Given the description of an element on the screen output the (x, y) to click on. 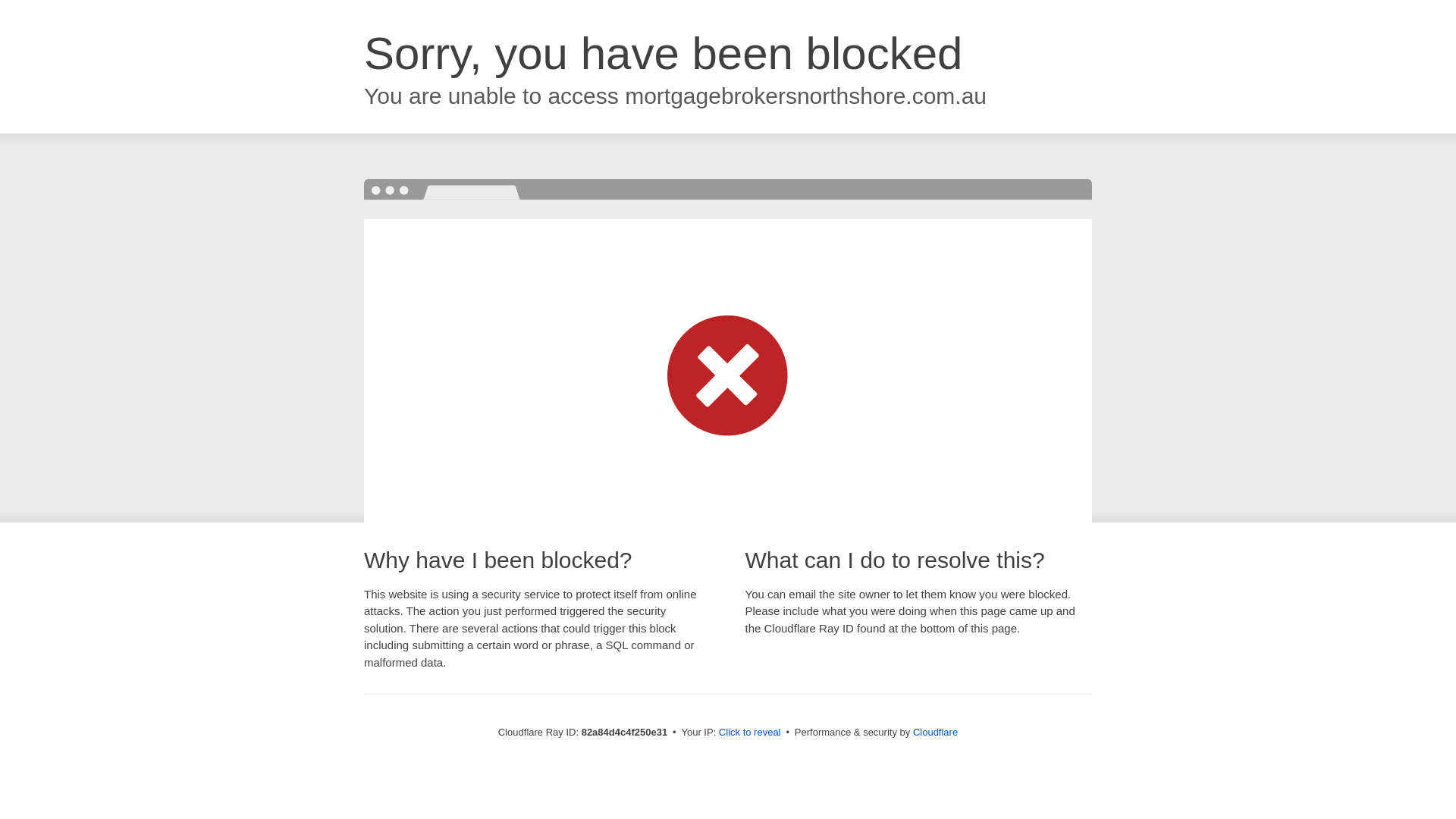
Cloudflare Element type: text (935, 731)
Click to reveal Element type: text (749, 732)
